Given the description of an element on the screen output the (x, y) to click on. 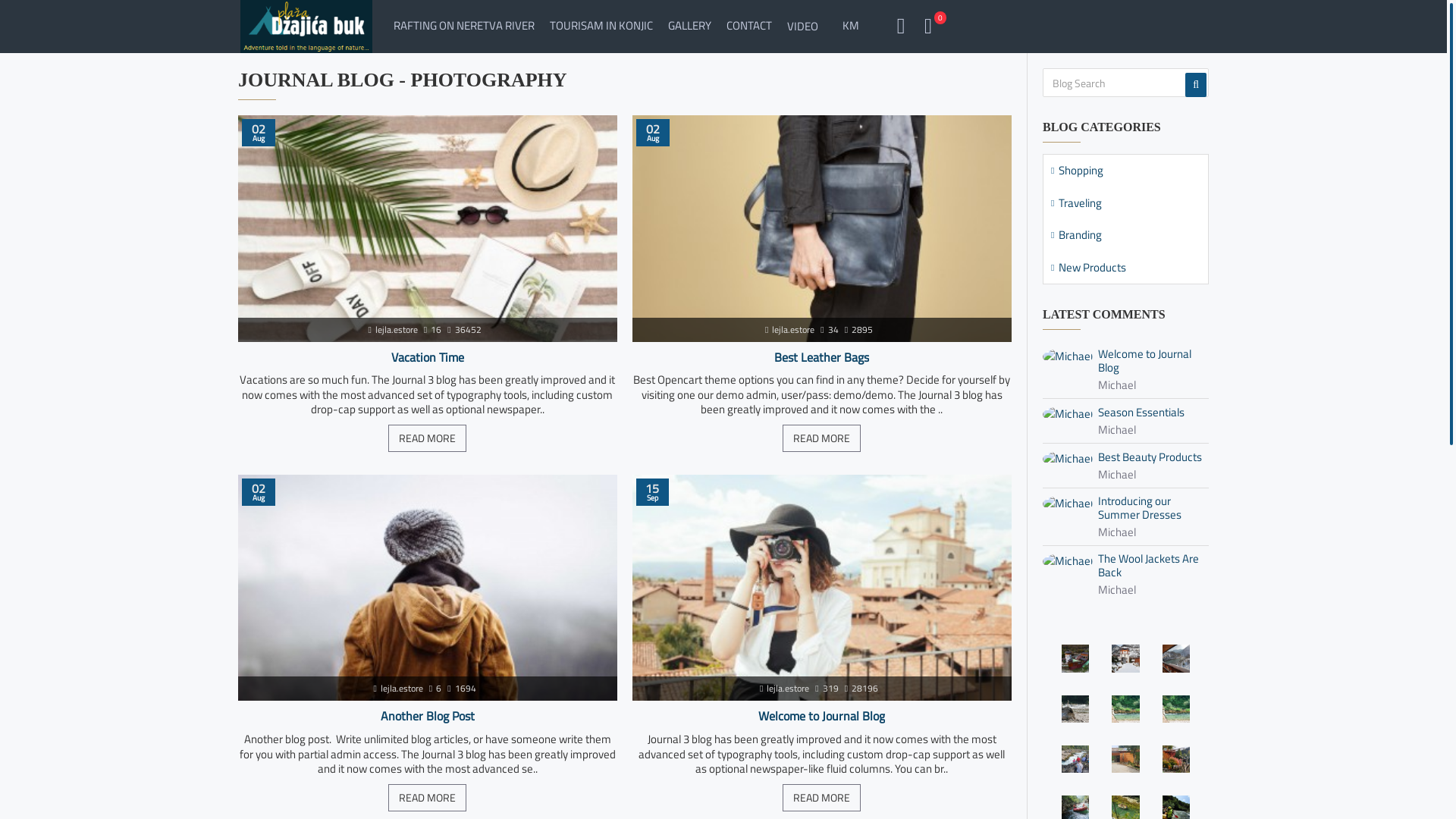
VIDEO Element type: text (802, 26)
Welcome to Journal Blog Element type: hover (821, 587)
Welcome to Journal Blog Element type: text (1150, 360)
The Wool Jackets Are Back Element type: text (1150, 565)
Vacation Time Element type: hover (427, 228)
CONTACT Element type: text (748, 26)
Shopping Element type: text (1125, 170)
Branding Element type: text (1125, 235)
New Products Element type: text (1125, 267)
Introducing our Summer Dresses Element type: text (1150, 507)
Another Blog Post Element type: hover (427, 587)
KM Element type: text (854, 22)
Best Leather Bags Element type: hover (821, 228)
TOURISAM IN KONJIC Element type: text (601, 26)
Traveling Element type: text (1125, 203)
RAFTING ON NERETVA RIVER Element type: text (463, 26)
Neretva Rafting Element type: hover (306, 26)
Another Blog Post Element type: text (427, 716)
GALLERY Element type: text (689, 26)
Vacation Time Element type: text (427, 357)
READ MORE Element type: text (427, 797)
0 Element type: text (927, 26)
READ MORE Element type: text (821, 437)
READ MORE Element type: text (427, 437)
READ MORE Element type: text (821, 797)
Welcome to Journal Blog Element type: text (821, 716)
Season Essentials Element type: text (1141, 412)
Best Leather Bags Element type: text (821, 357)
Best Beauty Products Element type: text (1149, 457)
